Given the description of an element on the screen output the (x, y) to click on. 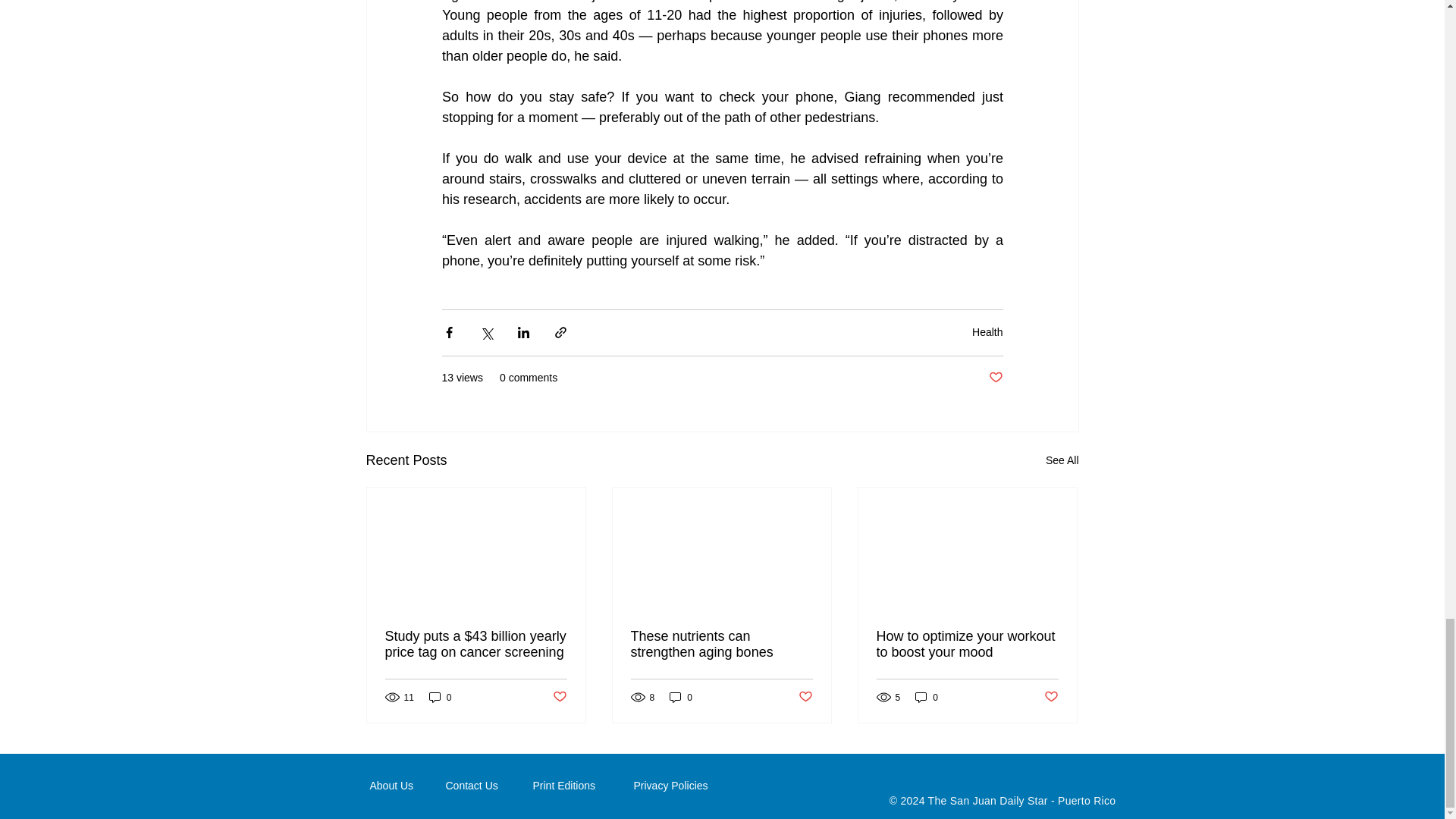
0 (681, 697)
These nutrients can strengthen aging bones (721, 644)
Health (987, 331)
Post not marked as liked (995, 377)
0 (440, 697)
Post not marked as liked (558, 697)
See All (1061, 460)
